Given the description of an element on the screen output the (x, y) to click on. 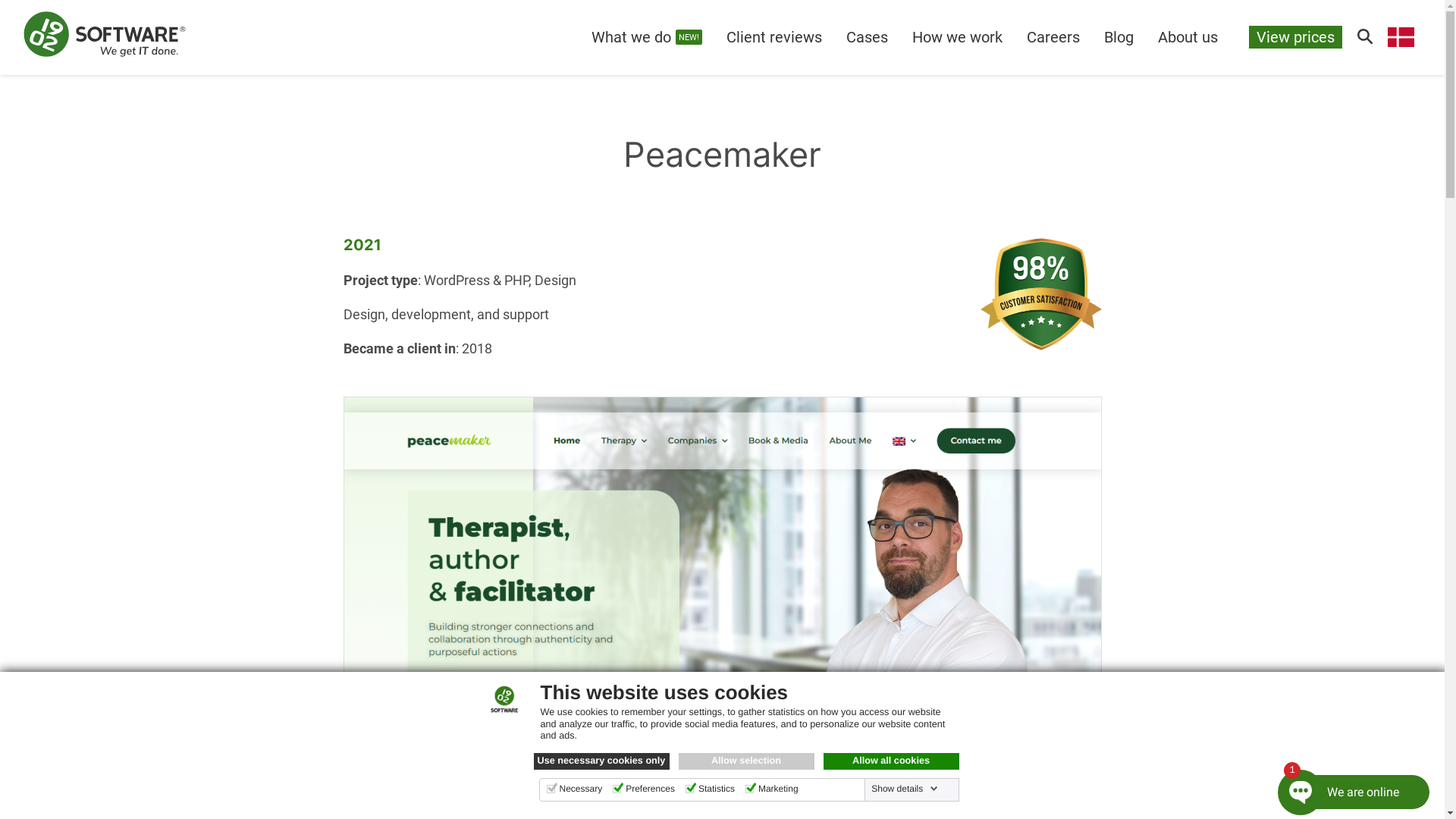
View prices Element type: text (1295, 36)
Weply chat Element type: hover (1344, 785)
Blog Element type: text (1118, 36)
Careers Element type: text (1053, 36)
Cases Element type: text (867, 36)
Allow all cookies Element type: text (891, 761)
What we do
NEW! Element type: text (646, 36)
Show details Element type: text (904, 788)
About us Element type: text (1187, 36)
Client reviews Element type: text (774, 36)
Use necessary cookies only Element type: text (601, 761)
How we work Element type: text (957, 36)
Allow selection Element type: text (745, 761)
